Given the description of an element on the screen output the (x, y) to click on. 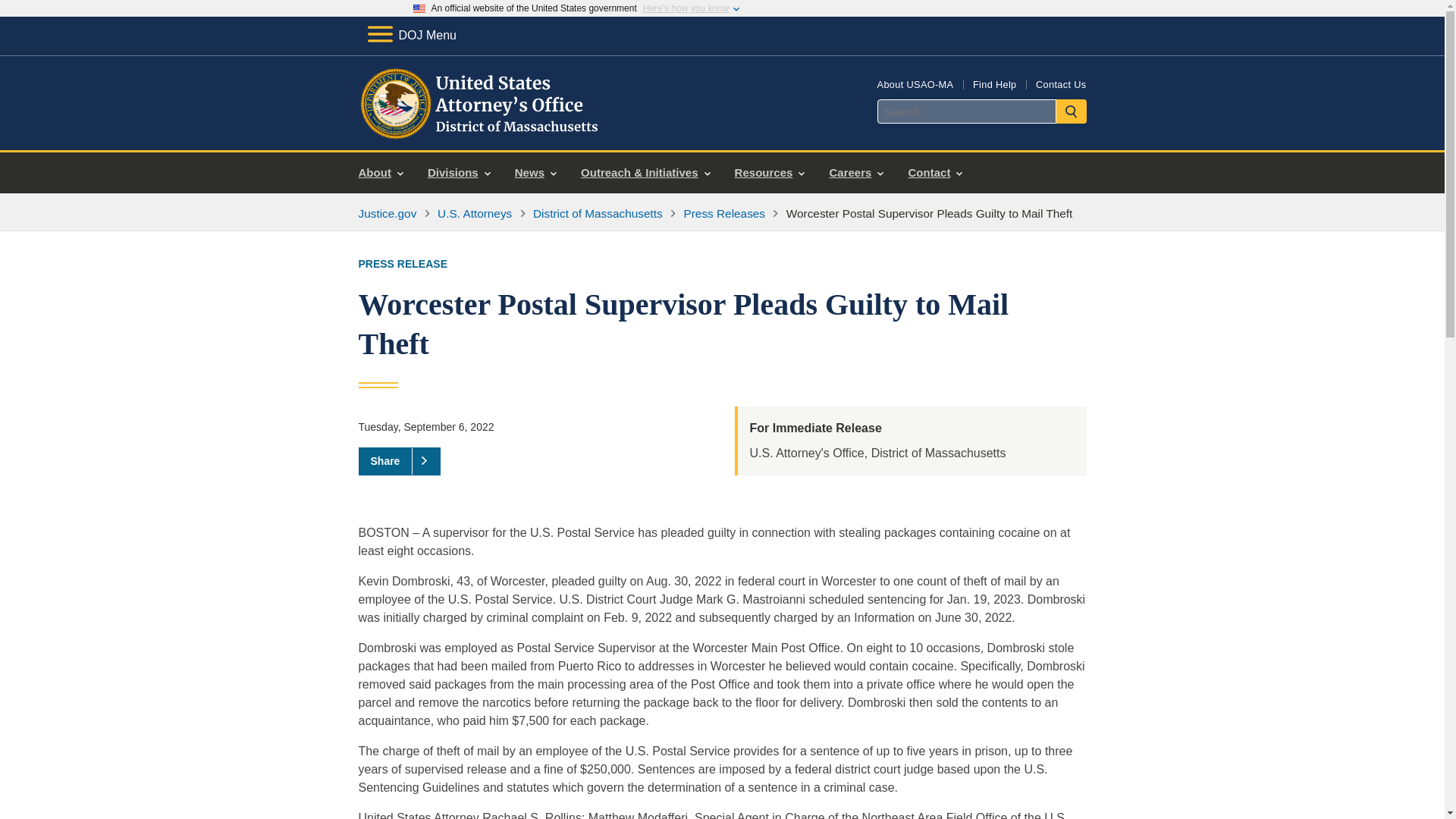
U.S. Attorneys (475, 213)
News (535, 173)
Resources (769, 173)
Divisions (458, 173)
Press Releases (723, 213)
Contact (934, 173)
Here's how you know (686, 8)
Share (398, 461)
Home (481, 132)
District of Massachusetts (597, 213)
Justice.gov (387, 213)
Contact Us (1060, 84)
About USAO-MA (915, 84)
About (380, 173)
Careers (855, 173)
